Given the description of an element on the screen output the (x, y) to click on. 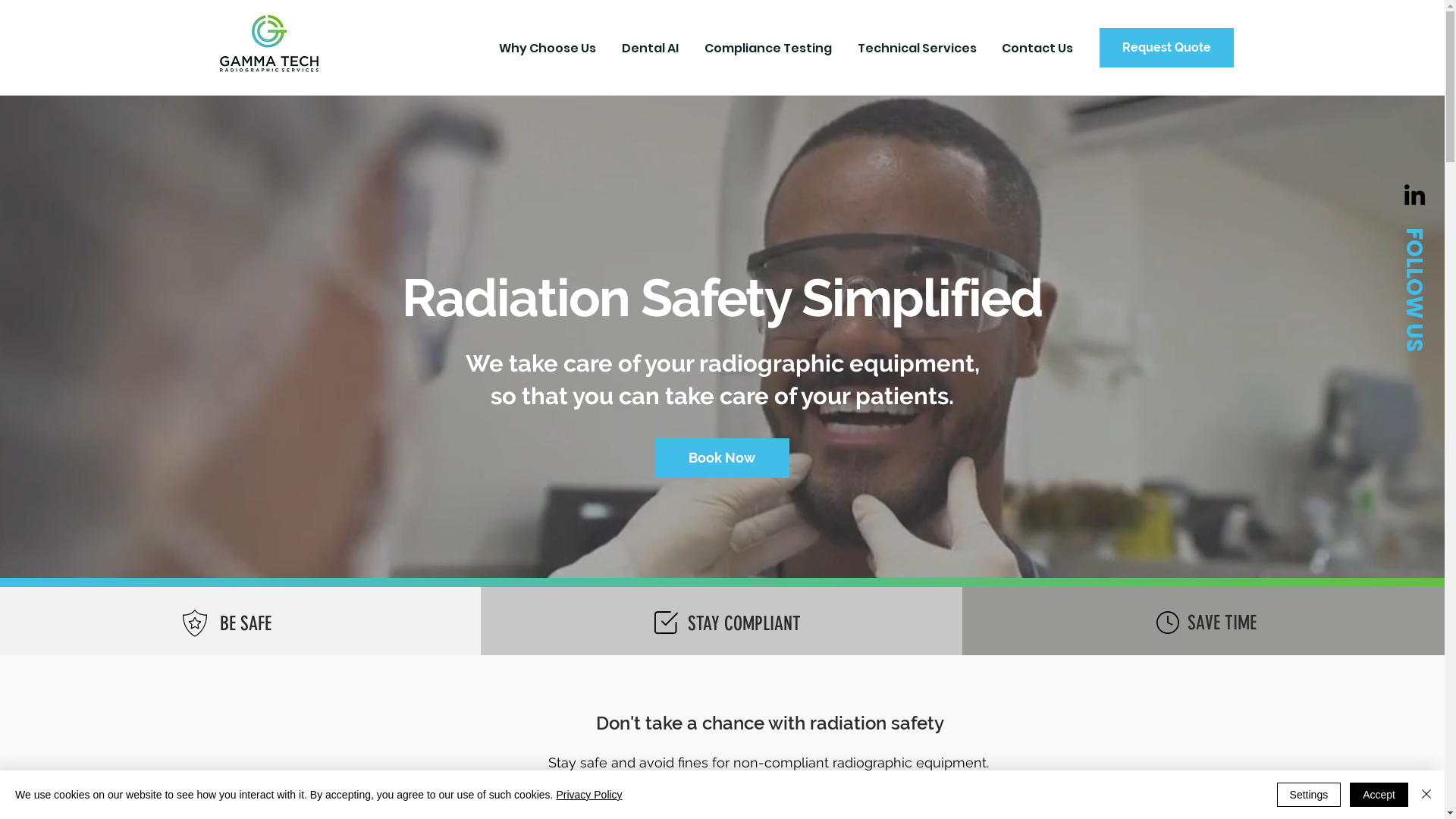
Settings Element type: text (1309, 794)
Book Now Element type: text (722, 457)
Accept Element type: text (1378, 794)
Why Choose Us Element type: text (547, 48)
Contact Us Element type: text (1038, 48)
Compliance Testing Element type: text (769, 48)
Technical Services Element type: text (918, 48)
Request Quote Element type: text (1166, 47)
Dental AI Element type: text (650, 48)
FOLLOW US Element type: text (1414, 289)
Privacy Policy Element type: text (588, 794)
